Given the description of an element on the screen output the (x, y) to click on. 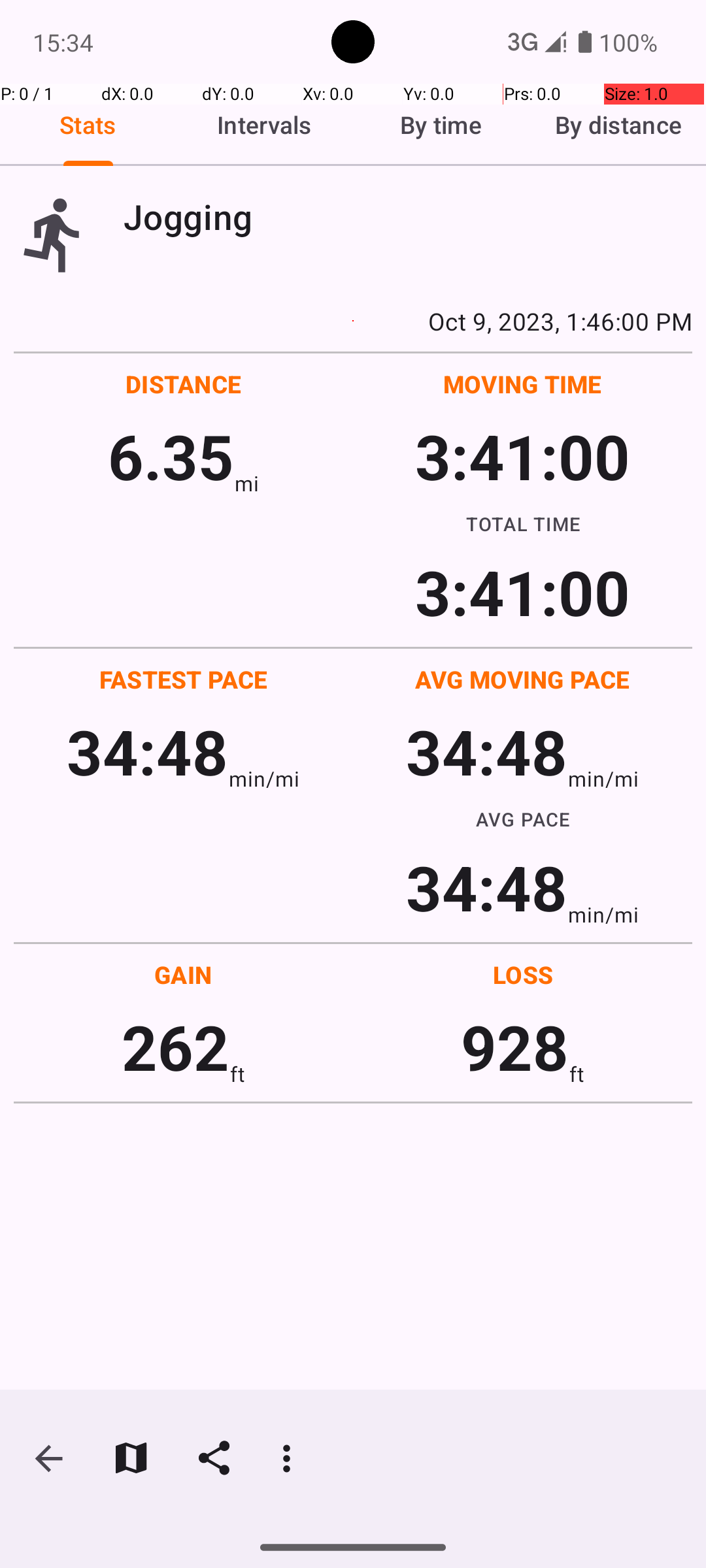
Jogging Element type: android.widget.TextView (407, 216)
Oct 9, 2023, 1:46:00 PM Element type: android.widget.TextView (352, 320)
6.35 Element type: android.widget.TextView (170, 455)
3:41:00 Element type: android.widget.TextView (522, 455)
FASTEST PACE Element type: android.widget.TextView (183, 678)
AVG MOVING PACE Element type: android.widget.TextView (522, 678)
34:48 Element type: android.widget.TextView (147, 750)
min/mi Element type: android.widget.TextView (264, 778)
AVG PACE Element type: android.widget.TextView (522, 818)
262 Element type: android.widget.TextView (175, 1045)
928 Element type: android.widget.TextView (514, 1045)
